Given the description of an element on the screen output the (x, y) to click on. 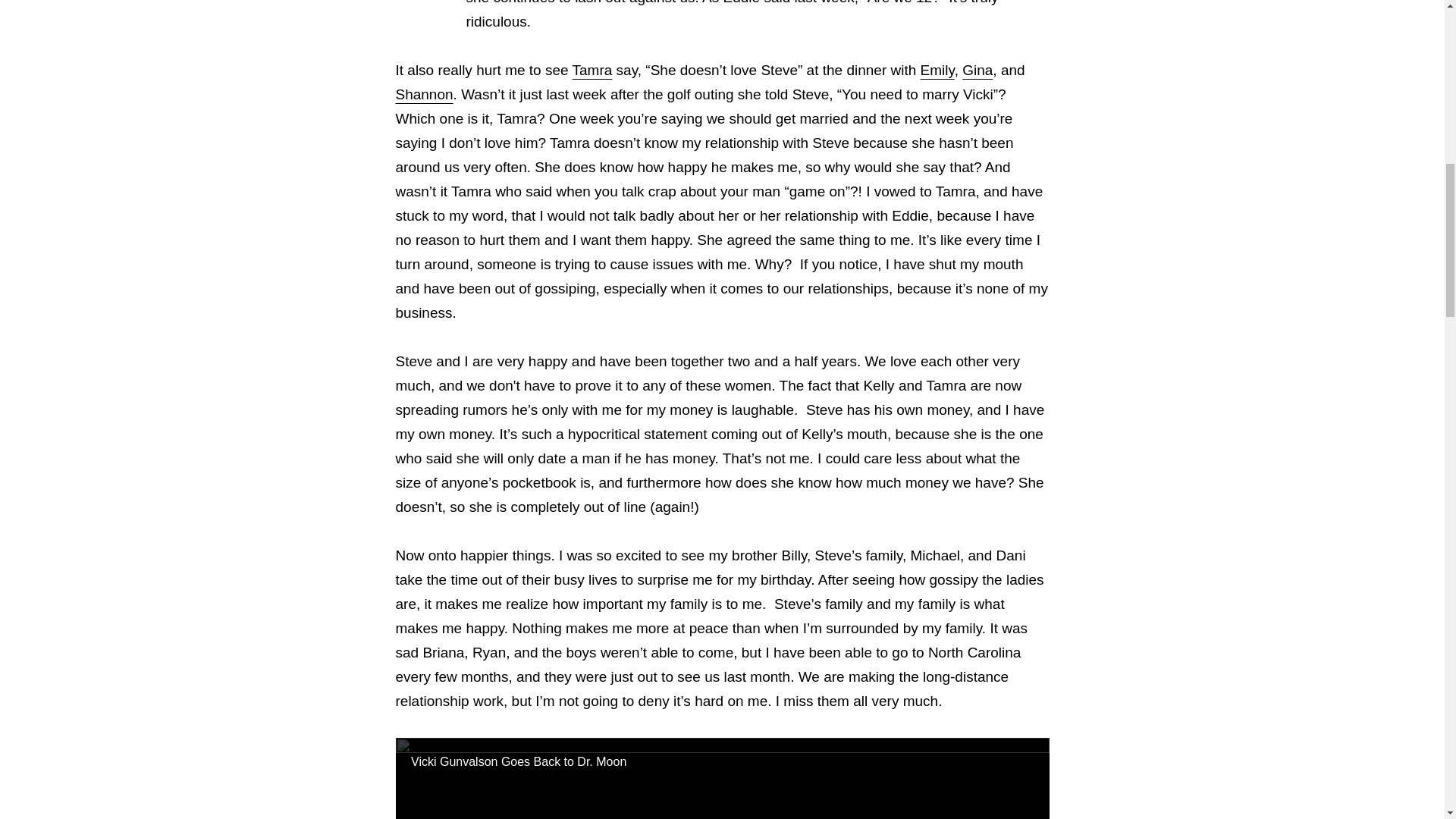
Gina (977, 69)
Tamra (592, 69)
Emily (937, 69)
Shannon (424, 94)
